Given the description of an element on the screen output the (x, y) to click on. 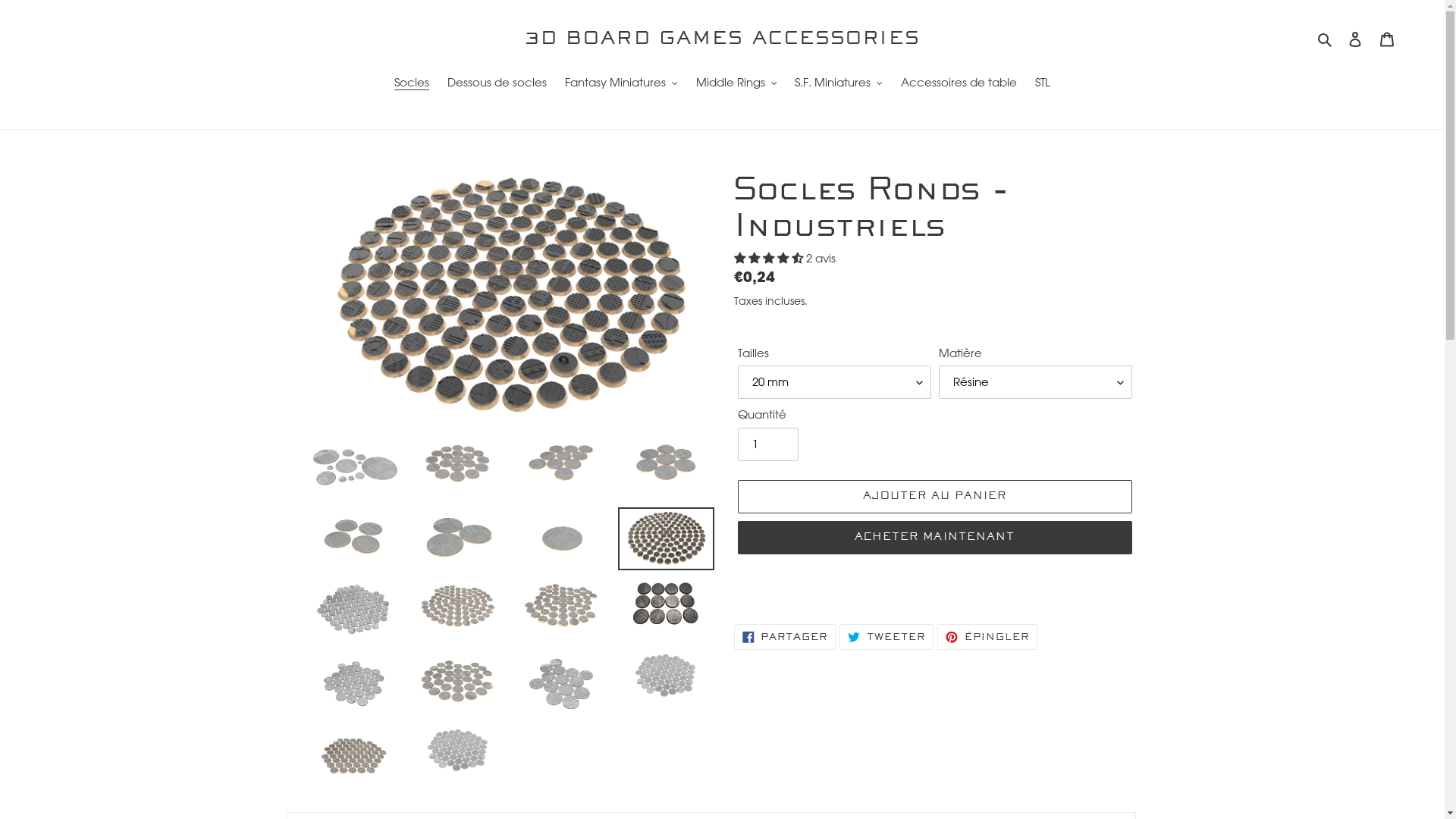
Socles Element type: text (411, 84)
AJOUTER AU PANIER Element type: text (934, 496)
Rechercher Element type: text (1325, 38)
Fantasy Miniatures Element type: text (621, 84)
PARTAGER
PARTAGER SUR FACEBOOK Element type: text (785, 636)
TWEETER
TWEETER SUR TWITTER Element type: text (886, 636)
Se connecter Element type: text (1355, 38)
Dessous de socles Element type: text (496, 84)
Accessoires de table Element type: text (958, 84)
Panier Element type: text (1386, 38)
S.F. Miniatures Element type: text (838, 84)
3D BOARD GAMES ACCESSORIES Element type: text (722, 38)
ACHETER MAINTENANT Element type: text (934, 537)
Middle Rings Element type: text (736, 84)
STL Element type: text (1042, 84)
